Given the description of an element on the screen output the (x, y) to click on. 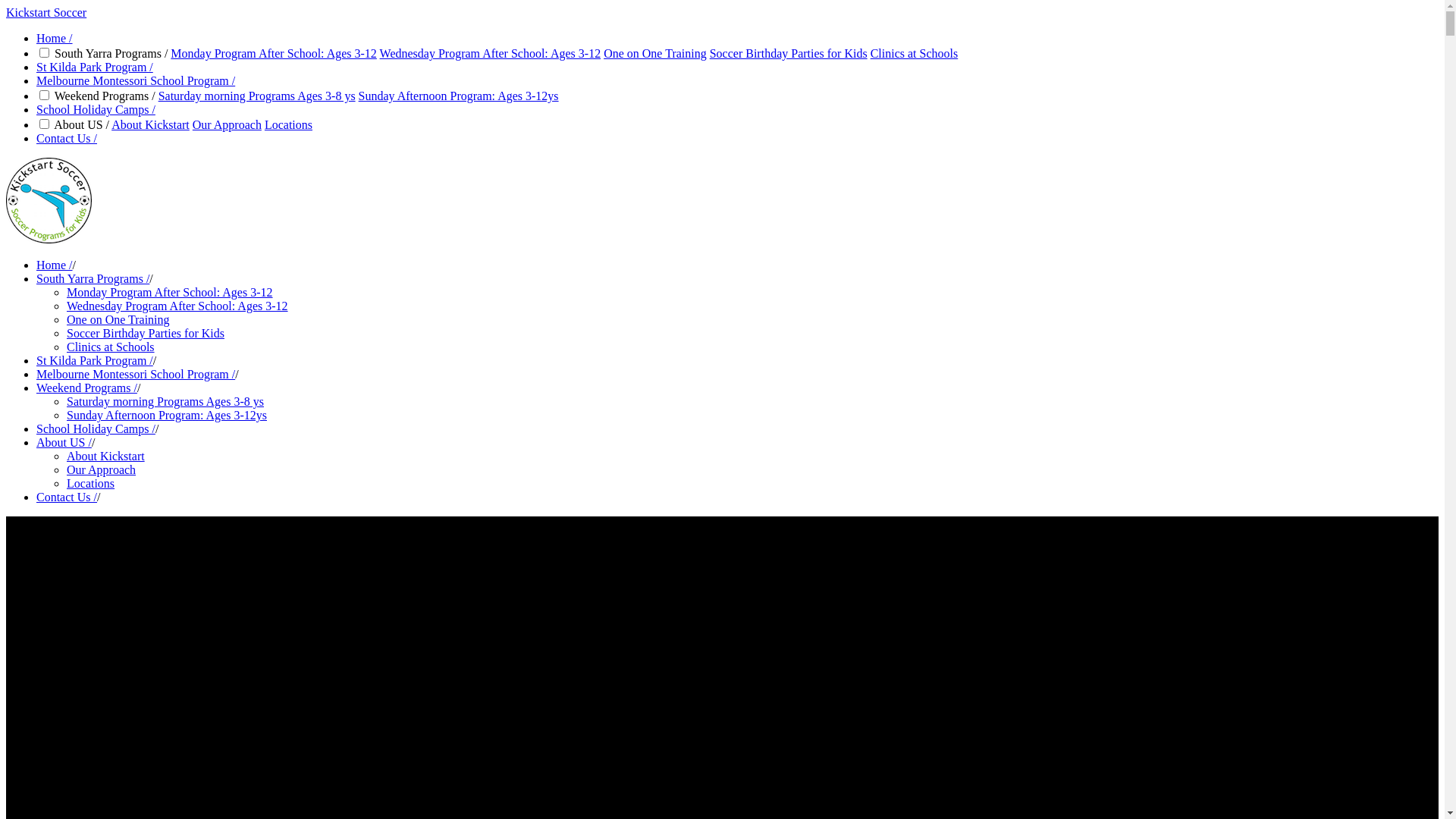
Wednesday Program After School: Ages 3-12 Element type: text (177, 305)
Locations Element type: text (288, 124)
Melbourne Montessori School Program / Element type: text (135, 373)
Contact Us / Element type: text (66, 496)
Monday Program After School: Ages 3-12 Element type: text (169, 291)
Sunday Afternoon Program: Ages 3-12ys Element type: text (166, 414)
Contact Us / Element type: text (66, 137)
Our Approach Element type: text (226, 124)
Melbourne Montessori School Program / Element type: text (135, 80)
School Holiday Camps / Element type: text (95, 428)
About US / Element type: text (63, 442)
South Yarra Programs / Element type: text (92, 278)
About Kickstart Element type: text (150, 124)
St Kilda Park Program / Element type: text (94, 360)
Weekend Programs / Element type: text (86, 387)
St Kilda Park Program / Element type: text (94, 66)
Home / Element type: text (54, 37)
About Kickstart Element type: text (105, 455)
One on One Training Element type: text (654, 53)
Saturday morning Programs Ages 3-8 ys Element type: text (256, 95)
One on One Training Element type: text (117, 319)
Soccer Birthday Parties for Kids Element type: text (788, 53)
Sunday Afternoon Program: Ages 3-12ys Element type: text (458, 95)
Monday Program After School: Ages 3-12 Element type: text (273, 53)
Locations Element type: text (90, 482)
Soccer Birthday Parties for Kids Element type: text (145, 332)
Clinics at Schools Element type: text (110, 346)
Wednesday Program After School: Ages 3-12 Element type: text (490, 53)
Kickstart Soccer Element type: text (46, 12)
Clinics at Schools Element type: text (914, 53)
School Holiday Camps / Element type: text (95, 109)
Saturday morning Programs Ages 3-8 ys Element type: text (164, 401)
Our Approach Element type: text (100, 469)
Home / Element type: text (54, 264)
